Given the description of an element on the screen output the (x, y) to click on. 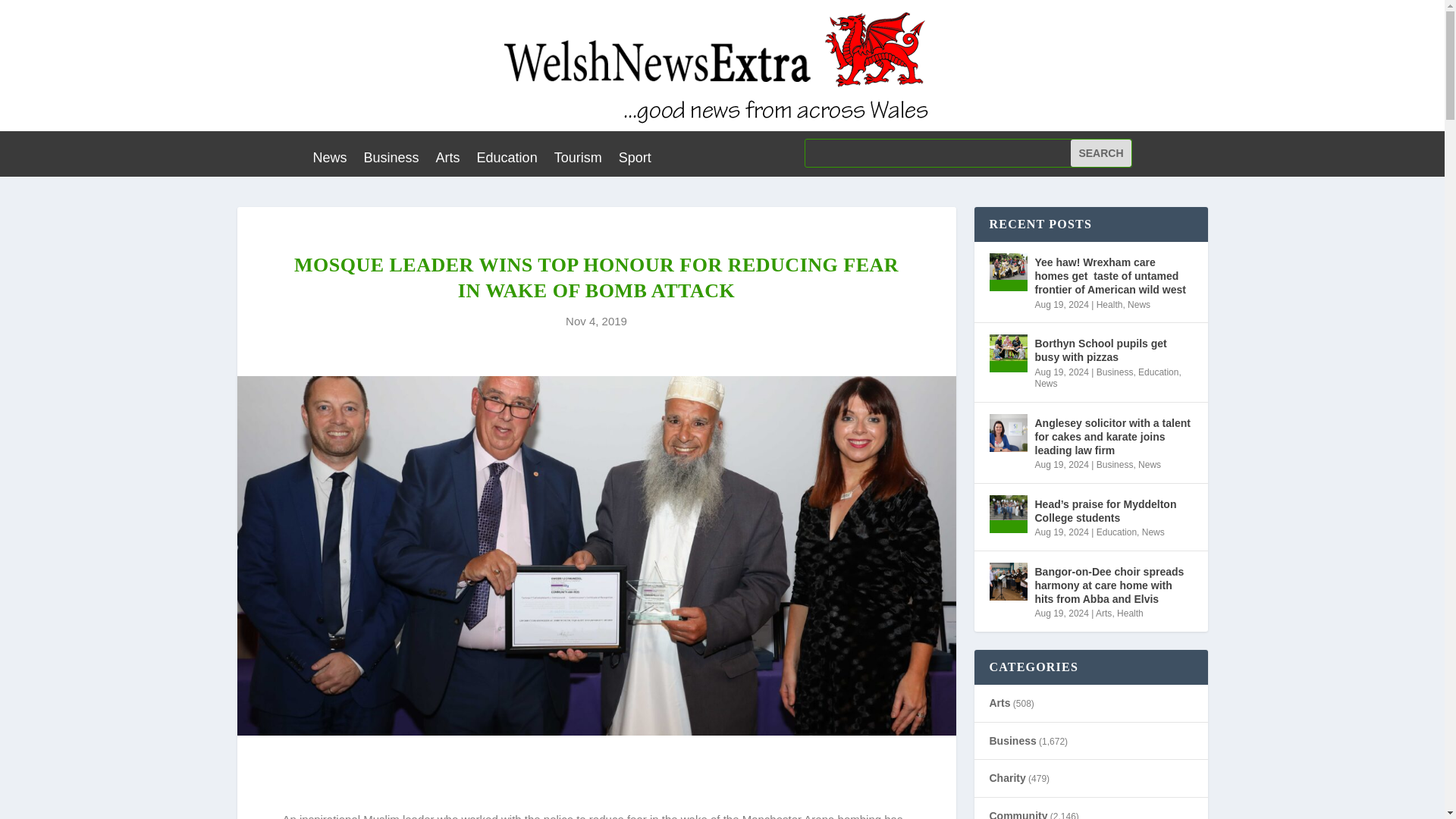
News (329, 160)
Search (1100, 153)
Health (1109, 304)
Borthyn School pupils get busy with pizzas (1007, 353)
Borthyn School pupils get busy with pizzas (1112, 350)
Tourism (578, 160)
Business (391, 160)
News (1138, 304)
